Given the description of an element on the screen output the (x, y) to click on. 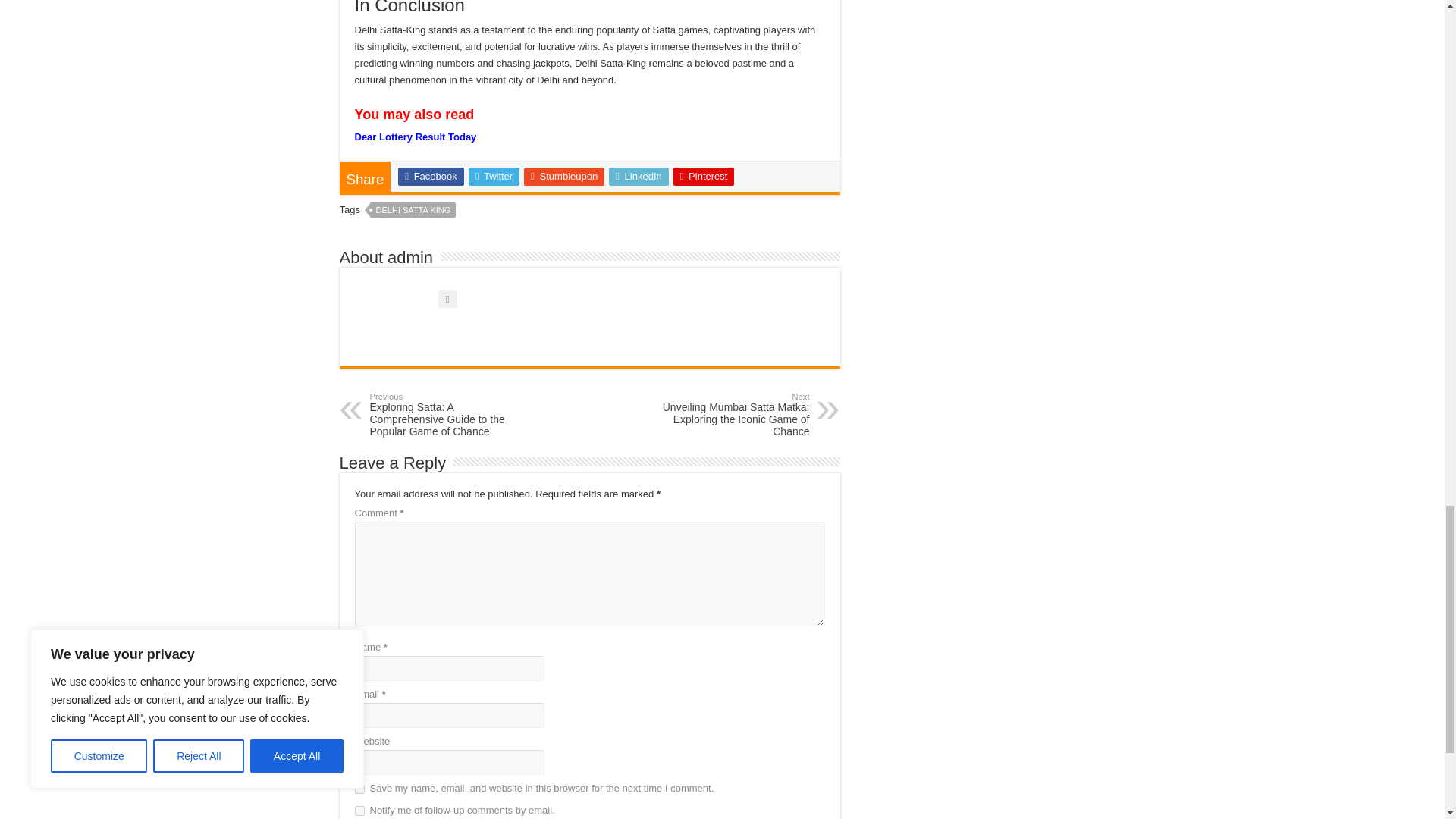
subscribe (360, 810)
yes (360, 788)
